Given the description of an element on the screen output the (x, y) to click on. 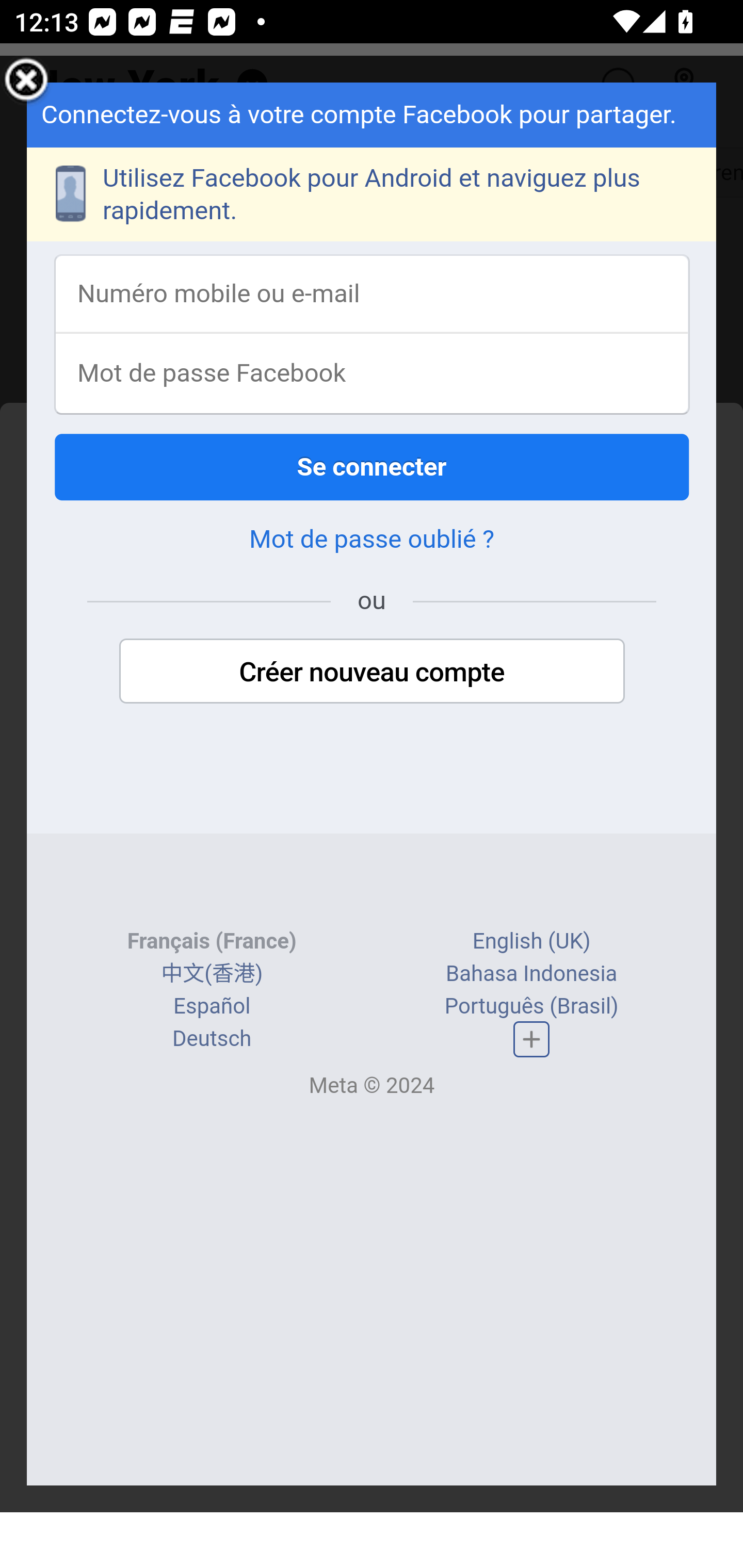
Se connecter (372, 466)
Mot de passe oublié ? (371, 539)
Créer nouveau compte (371, 671)
English (UK) (531, 940)
中文(香港) (211, 972)
Bahasa Indonesia (531, 972)
Español (212, 1005)
Português (Brasil) (530, 1005)
Liste complète des langues (531, 1038)
Deutsch (211, 1038)
